Given the description of an element on the screen output the (x, y) to click on. 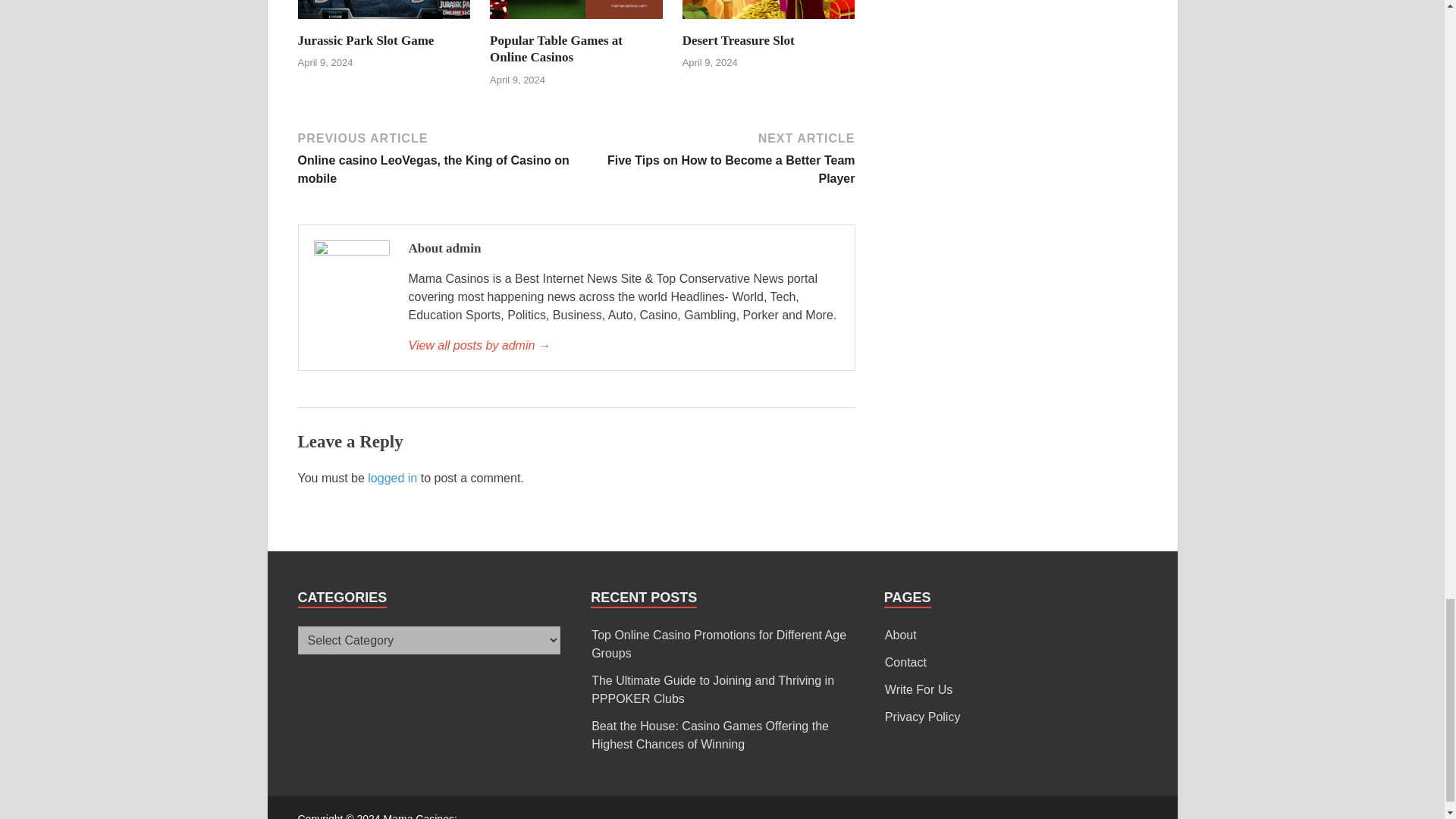
Jurassic Park Slot Game (365, 40)
admin (622, 345)
Popular Table Games at Online Casinos (575, 22)
Popular Table Games at Online Casinos (556, 48)
Desert Treasure Slot (738, 40)
Desert Treasure Slot (769, 22)
Jurassic Park Slot Game (383, 22)
